Given the description of an element on the screen output the (x, y) to click on. 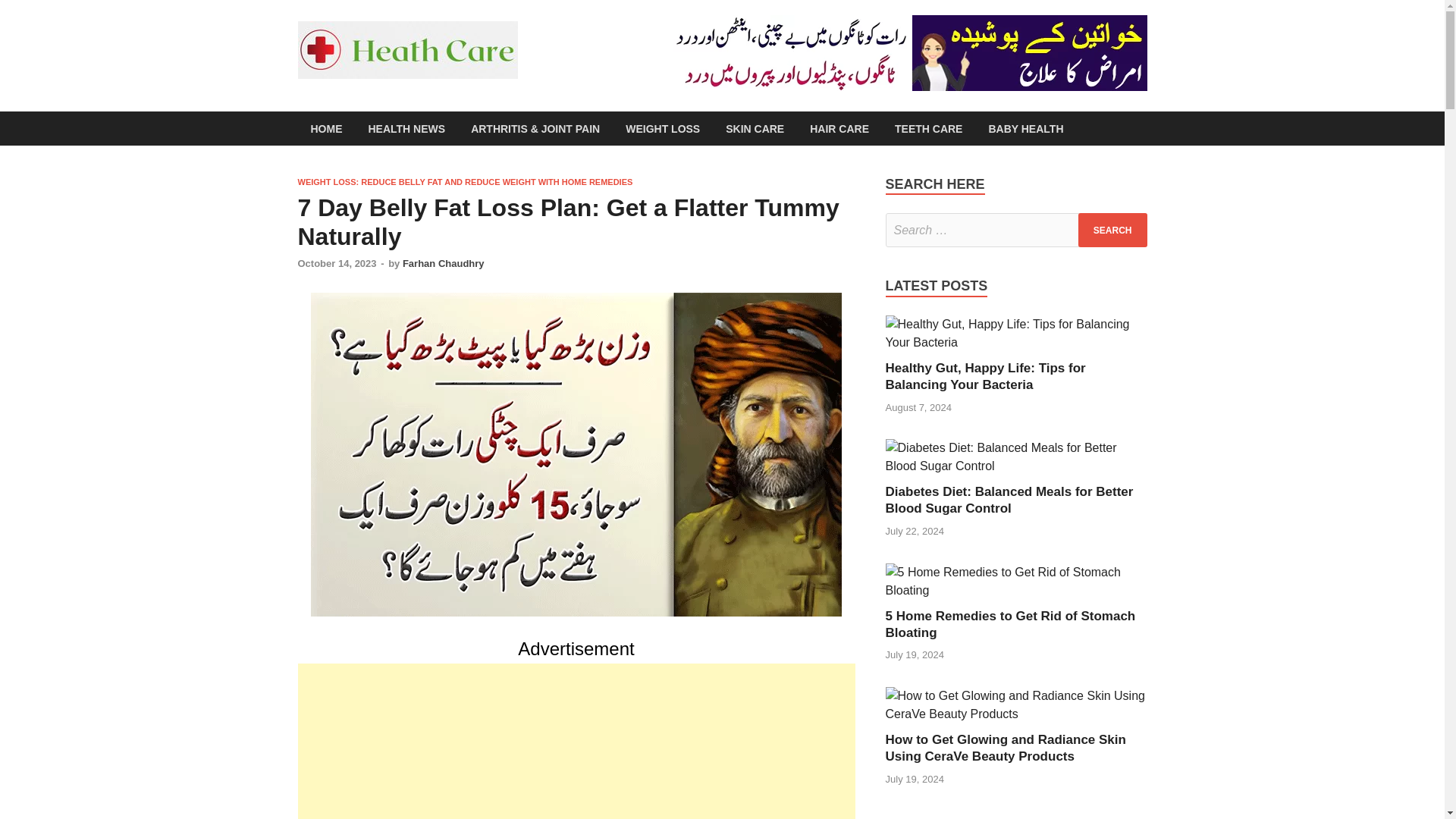
Search (1112, 229)
5 Home Remedies to Get Rid of Stomach Bloating (1010, 624)
TEETH CARE (928, 128)
Healthy Gut, Happy Life: Tips for Balancing Your Bacteria (985, 376)
October 14, 2023 (336, 263)
WEIGHT LOSS (662, 128)
SKIN CARE (754, 128)
Search (1112, 229)
Search (1112, 229)
